Given the description of an element on the screen output the (x, y) to click on. 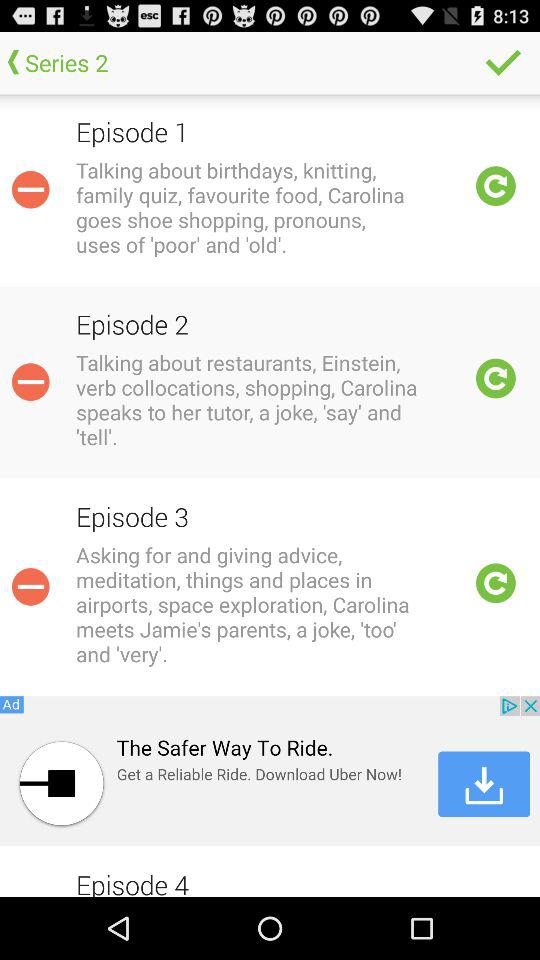
refresh option (496, 583)
